Given the description of an element on the screen output the (x, y) to click on. 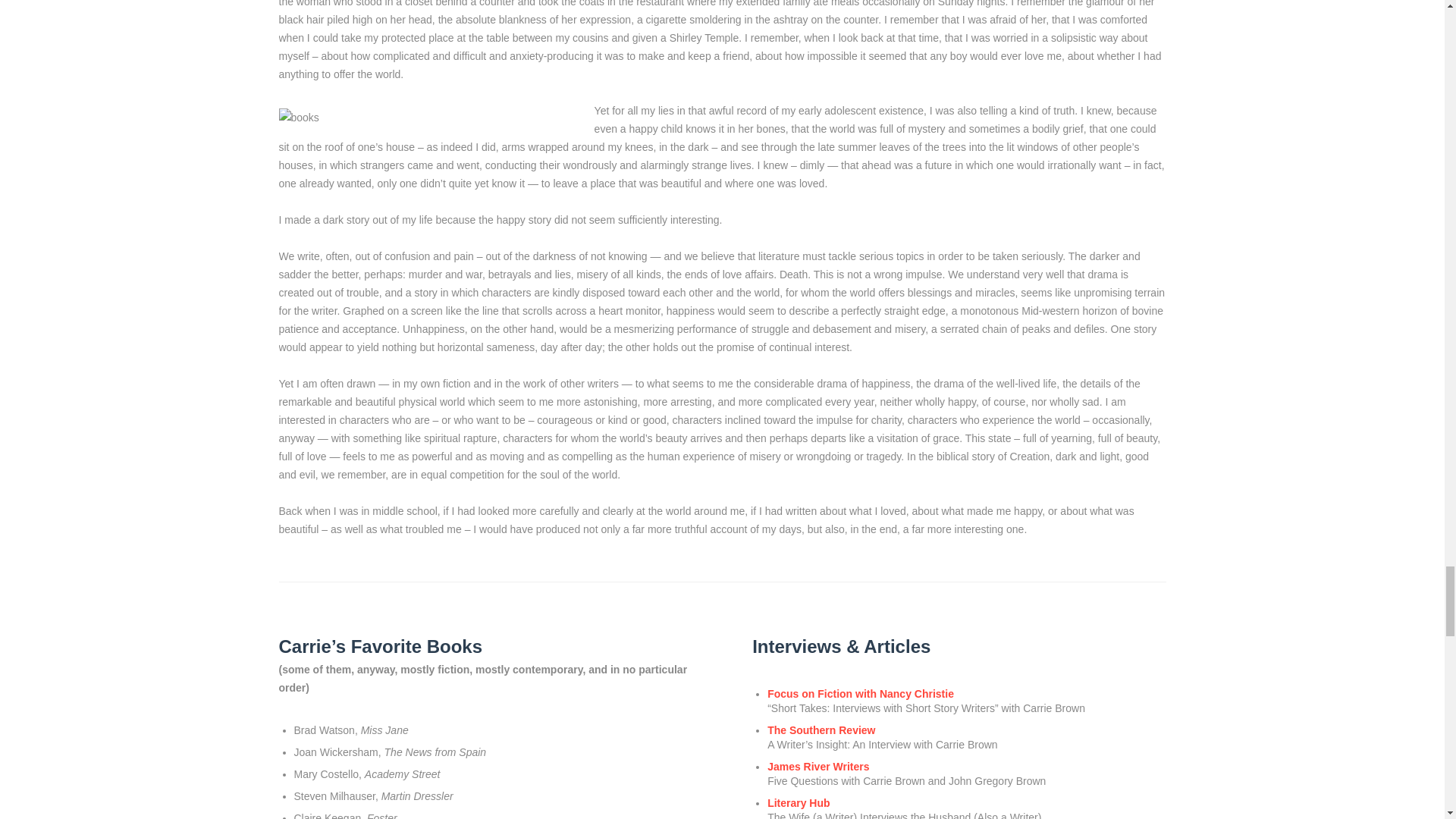
The Southern Review (821, 729)
Literary Hub (798, 802)
Focus on Fiction with Nancy Christie (860, 693)
James River Writers (818, 766)
